Given the description of an element on the screen output the (x, y) to click on. 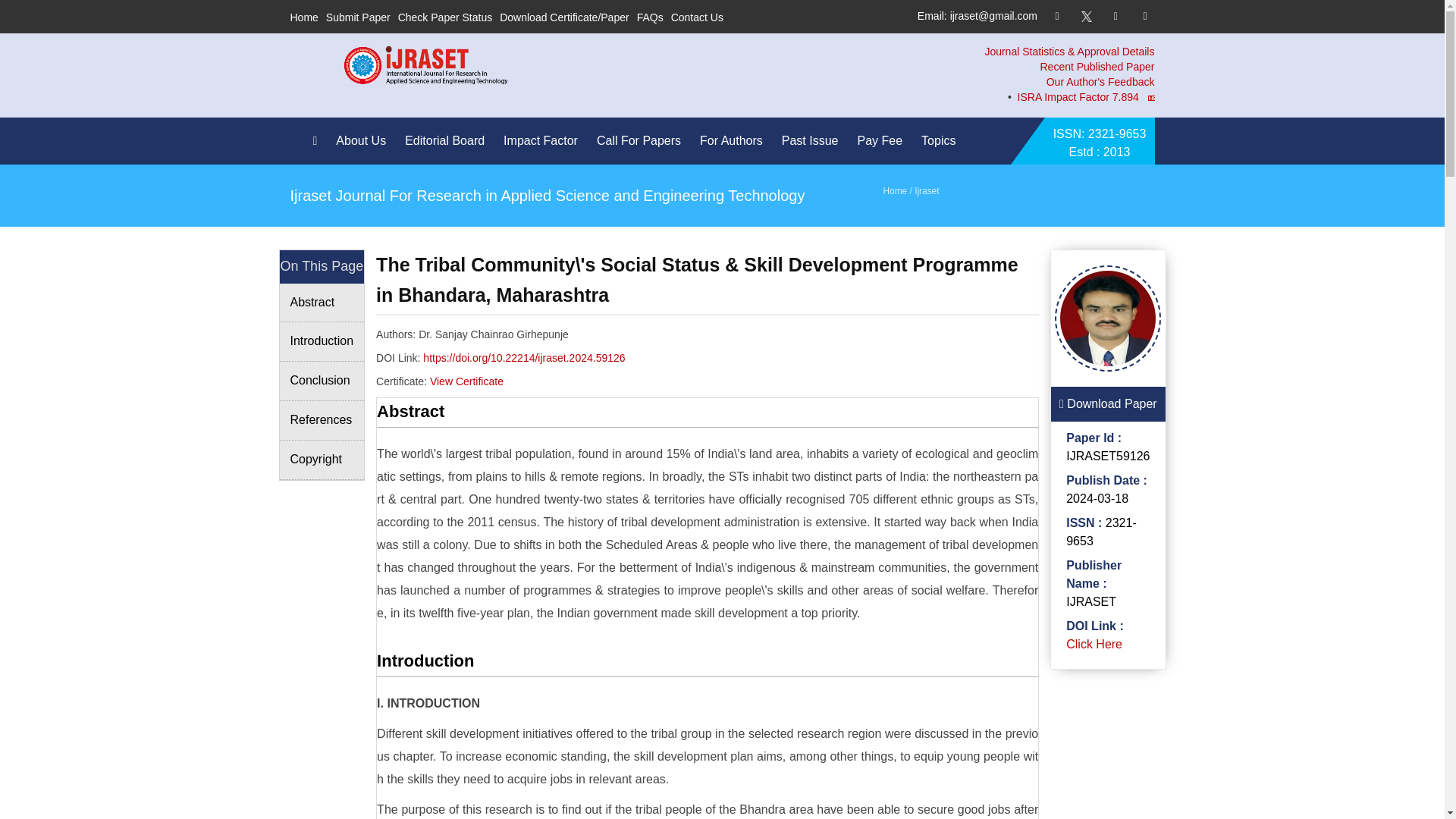
Home (303, 17)
Our Author's Feedback (1100, 82)
FAQs (650, 17)
Impact Factor (544, 140)
Check Paper Status (445, 17)
References (321, 420)
 ISRA Impact Factor 7.894 (1201, 96)
Introduction (321, 341)
Conclusion (321, 381)
Call For Papers (642, 140)
Submit Paper (358, 17)
About Us (364, 140)
For Authors (735, 140)
Abstract (321, 302)
Recent Published Paper (1096, 67)
